Given the description of an element on the screen output the (x, y) to click on. 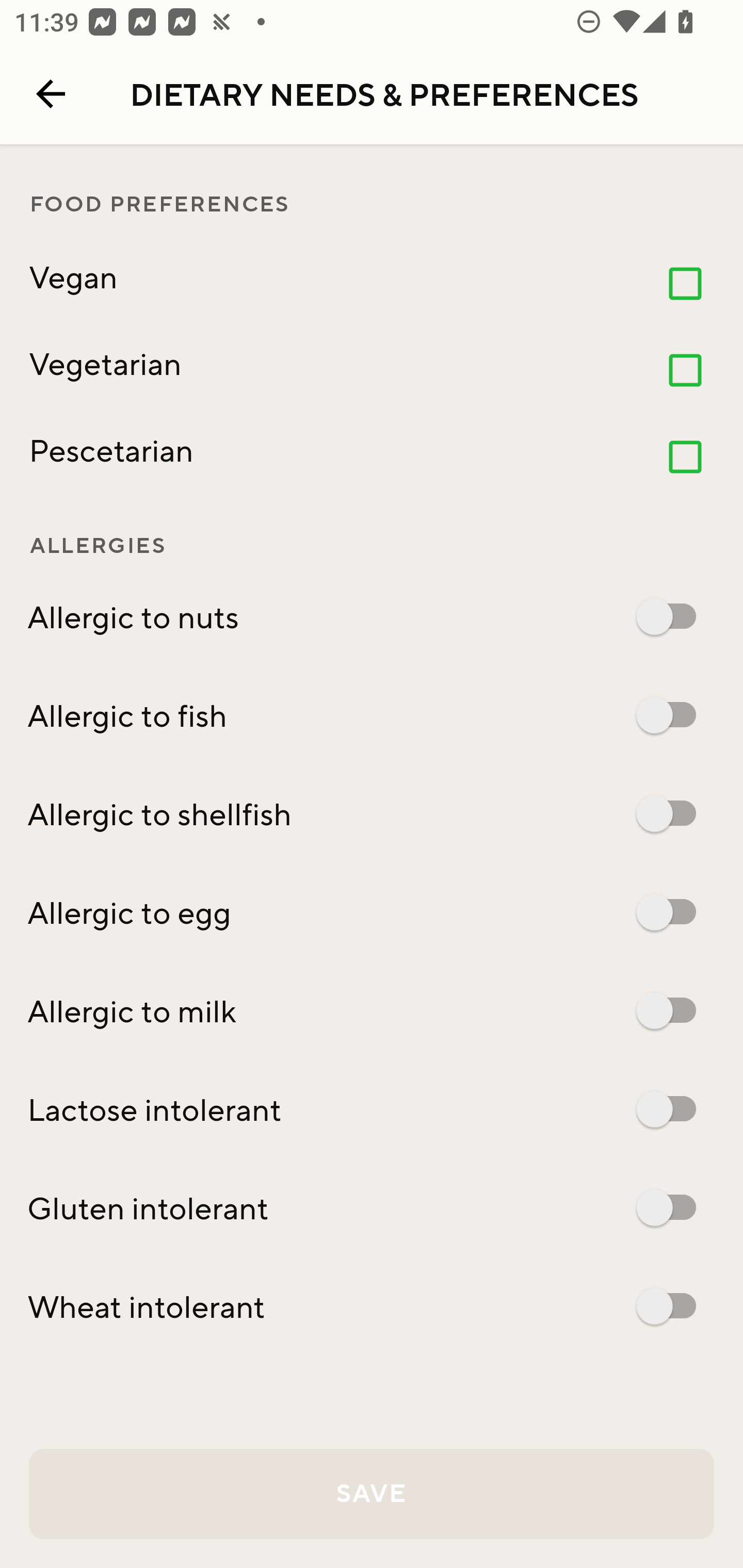
Navigate up (50, 93)
SAVE (371, 1493)
